Given the description of an element on the screen output the (x, y) to click on. 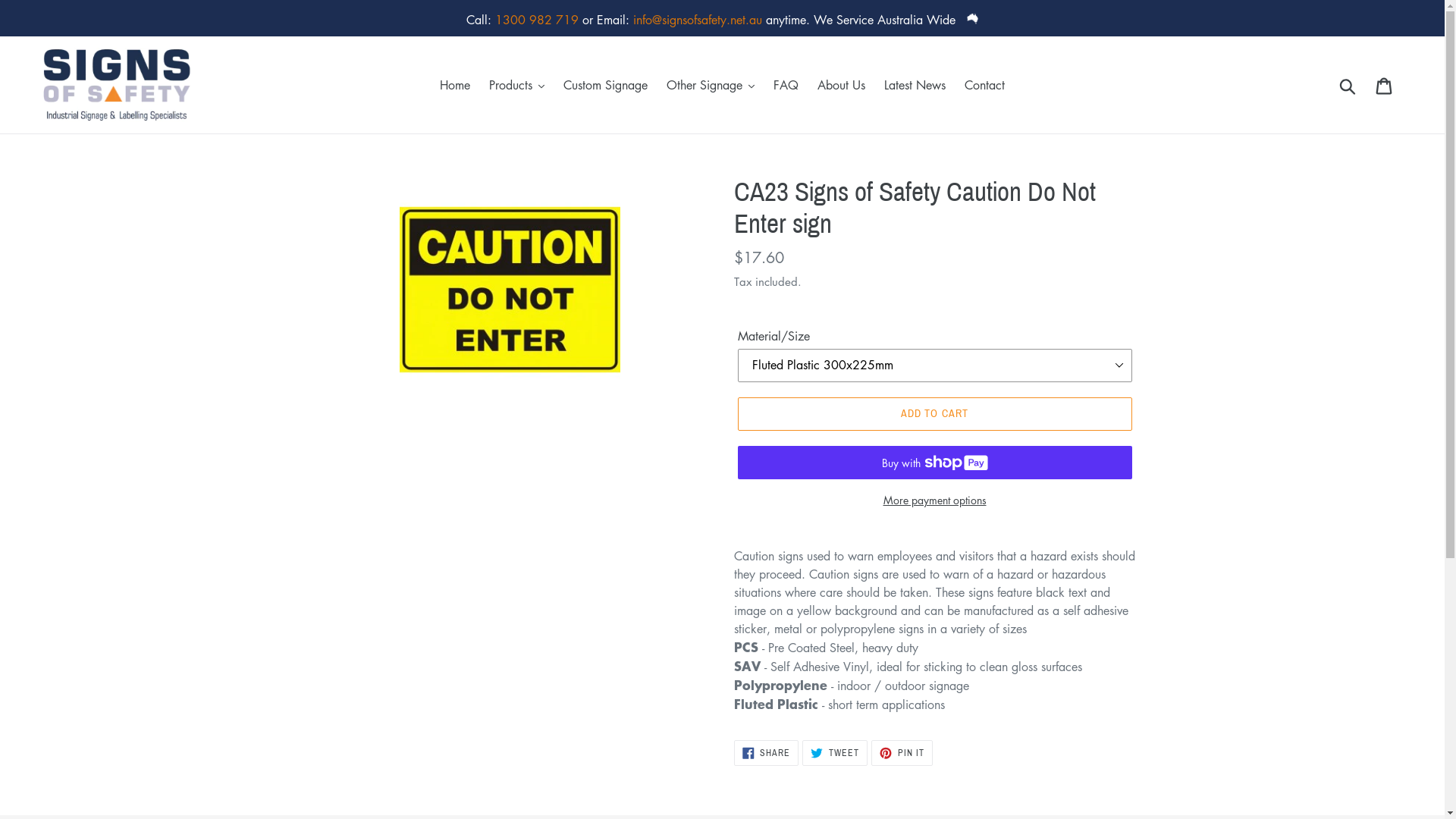
Submit Element type: text (1348, 84)
Cart Element type: text (1384, 84)
info@signsofsafety.net.au Element type: text (697, 19)
ADD TO CART Element type: text (934, 413)
Custom Signage Element type: text (605, 84)
1300 982 719 Element type: text (536, 19)
FAQ Element type: text (785, 84)
Home Element type: text (454, 84)
TWEET
TWEET ON TWITTER Element type: text (834, 752)
Contact Element type: text (984, 84)
Latest News Element type: text (914, 84)
About Us Element type: text (840, 84)
PIN IT
PIN ON PINTEREST Element type: text (901, 752)
More payment options Element type: text (934, 499)
SHARE
SHARE ON FACEBOOK Element type: text (766, 752)
